Given the description of an element on the screen output the (x, y) to click on. 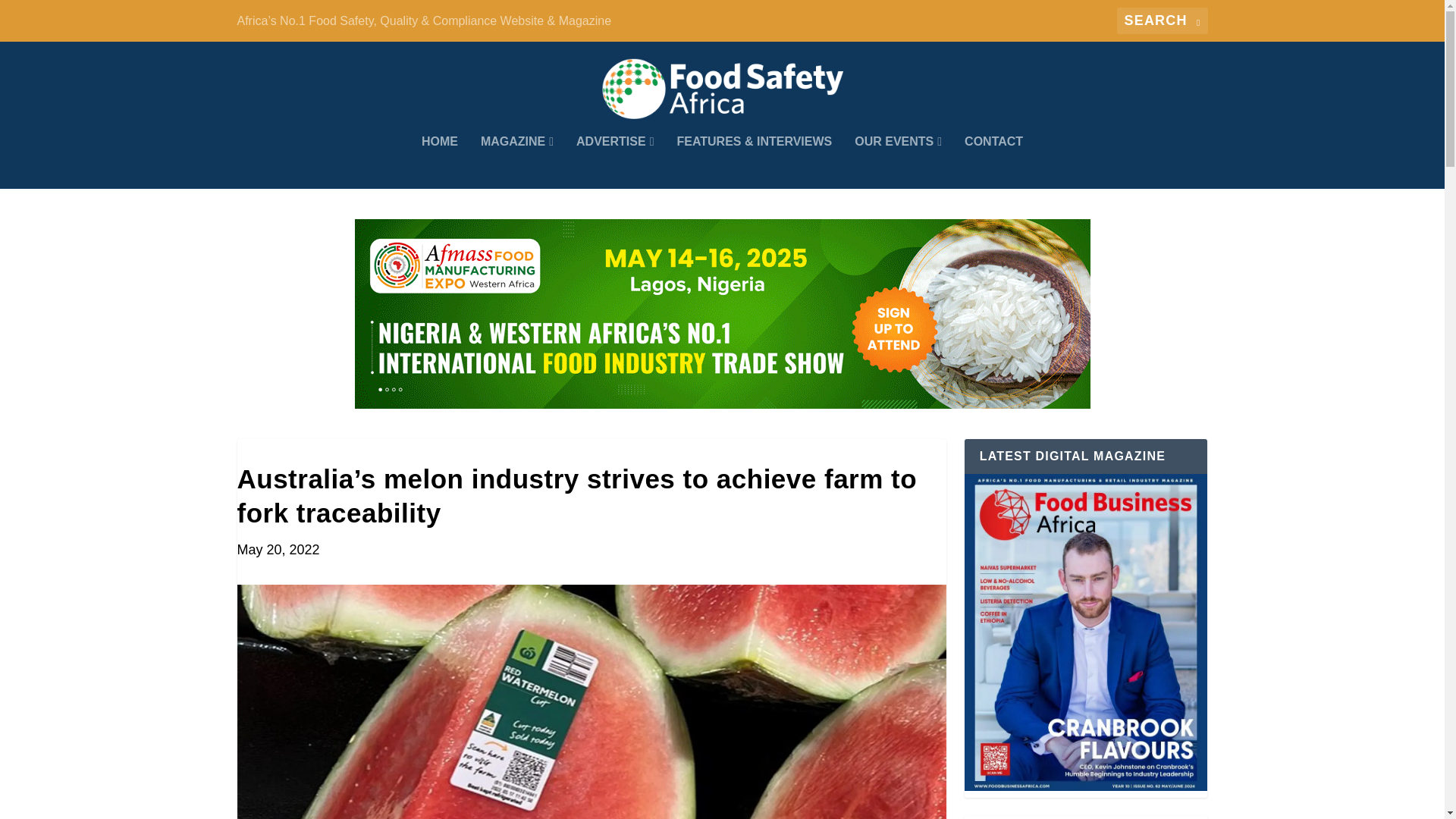
OUR EVENTS (898, 162)
CONTACT (993, 162)
ADVERTISE (614, 162)
MAGAZINE (516, 162)
Search for: (1161, 20)
